Given the description of an element on the screen output the (x, y) to click on. 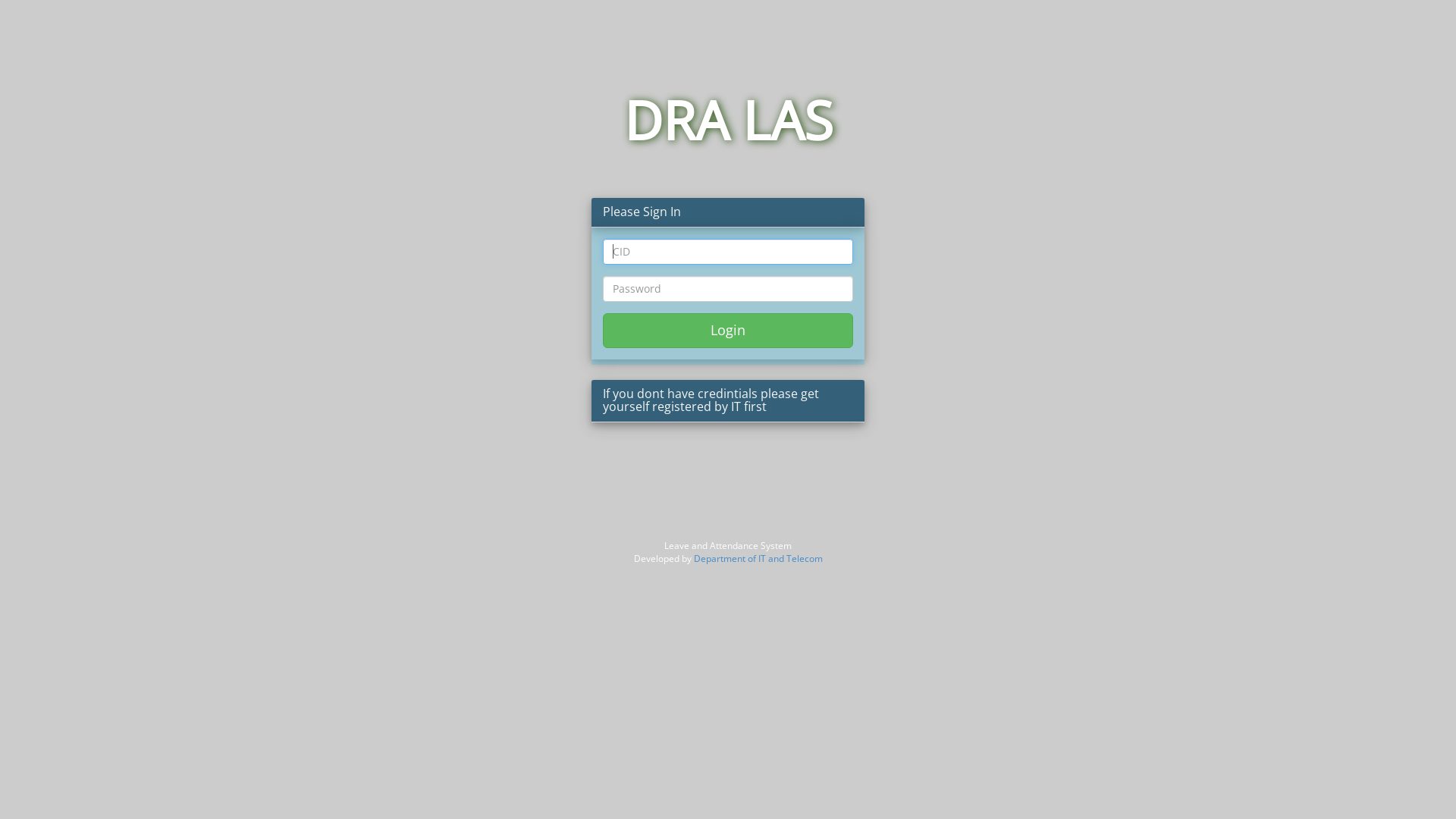
Department of IT and Telecom Element type: text (757, 558)
Login Element type: text (727, 330)
